Given the description of an element on the screen output the (x, y) to click on. 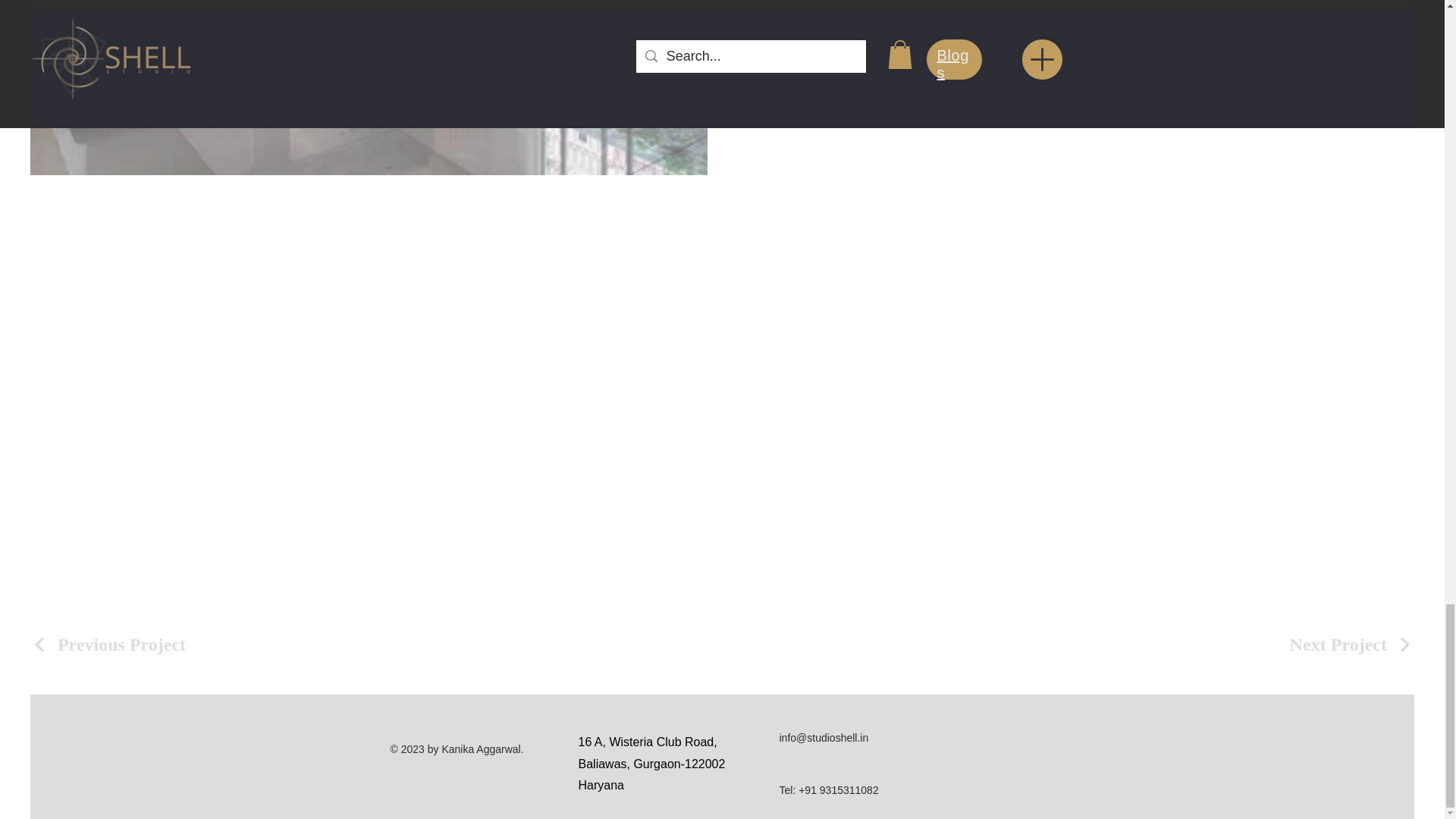
Previous Project (108, 644)
Next Project (1351, 644)
